Given the description of an element on the screen output the (x, y) to click on. 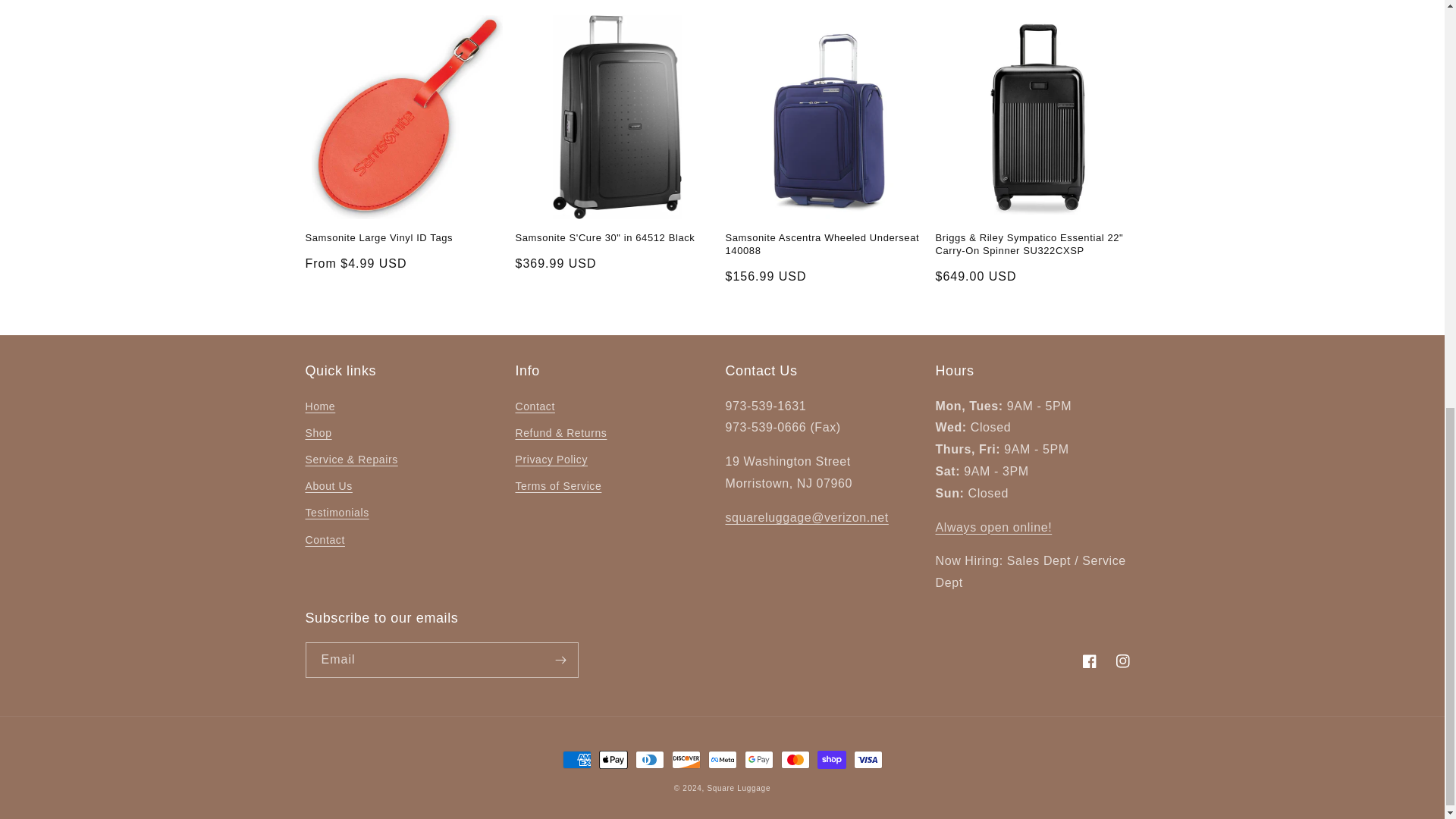
Samsonite Large Vinyl ID Tags (406, 237)
All products (994, 526)
Samsonite S'Cure 30" in 64512 Black (617, 237)
